Given the description of an element on the screen output the (x, y) to click on. 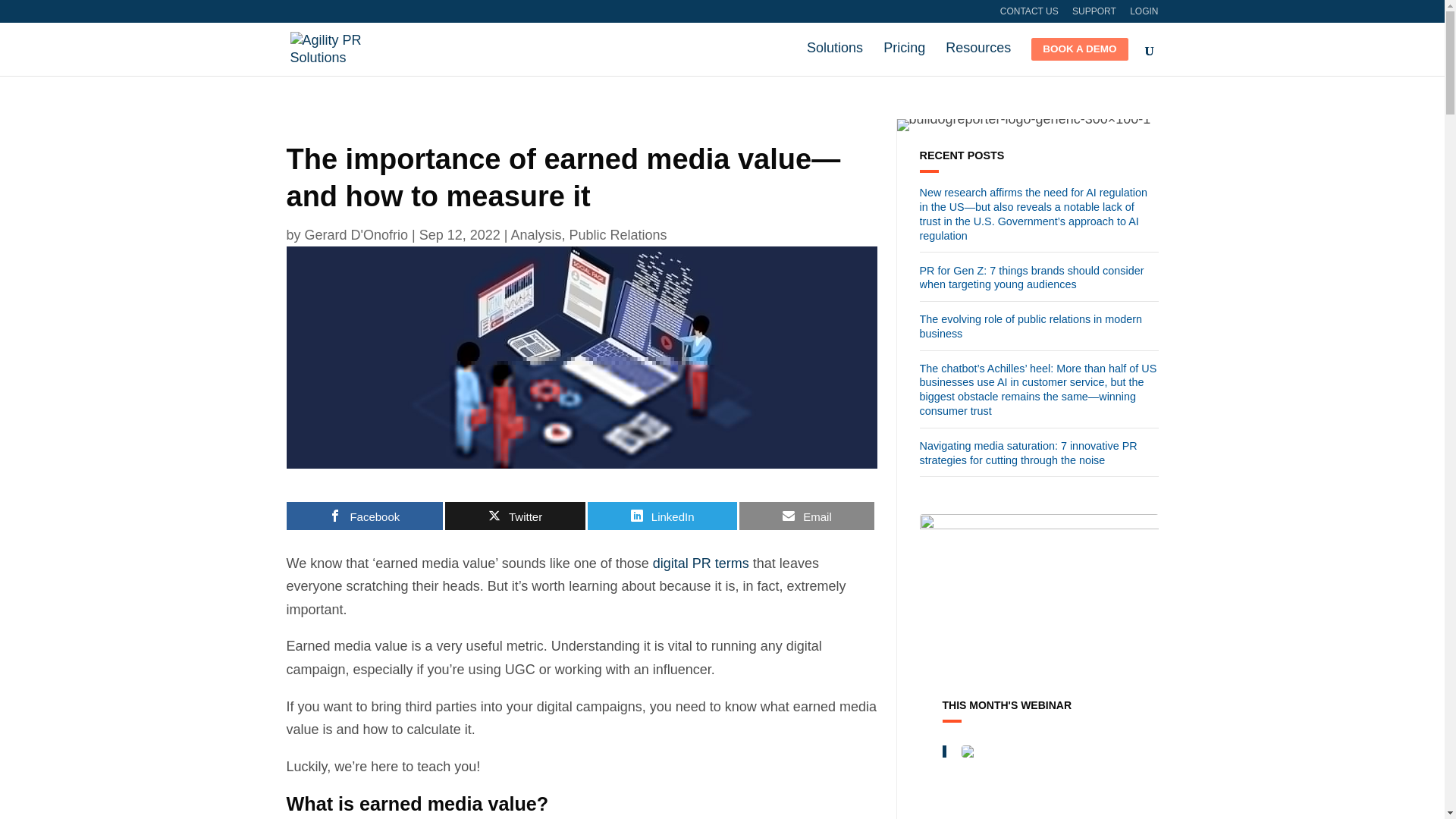
Email (807, 515)
Facebook (365, 515)
digital PR terms (700, 563)
Resources (977, 54)
Solutions (834, 54)
Analysis (536, 234)
Twitter (515, 515)
Public Relations (617, 234)
CONTACT US (1029, 14)
